Given the description of an element on the screen output the (x, y) to click on. 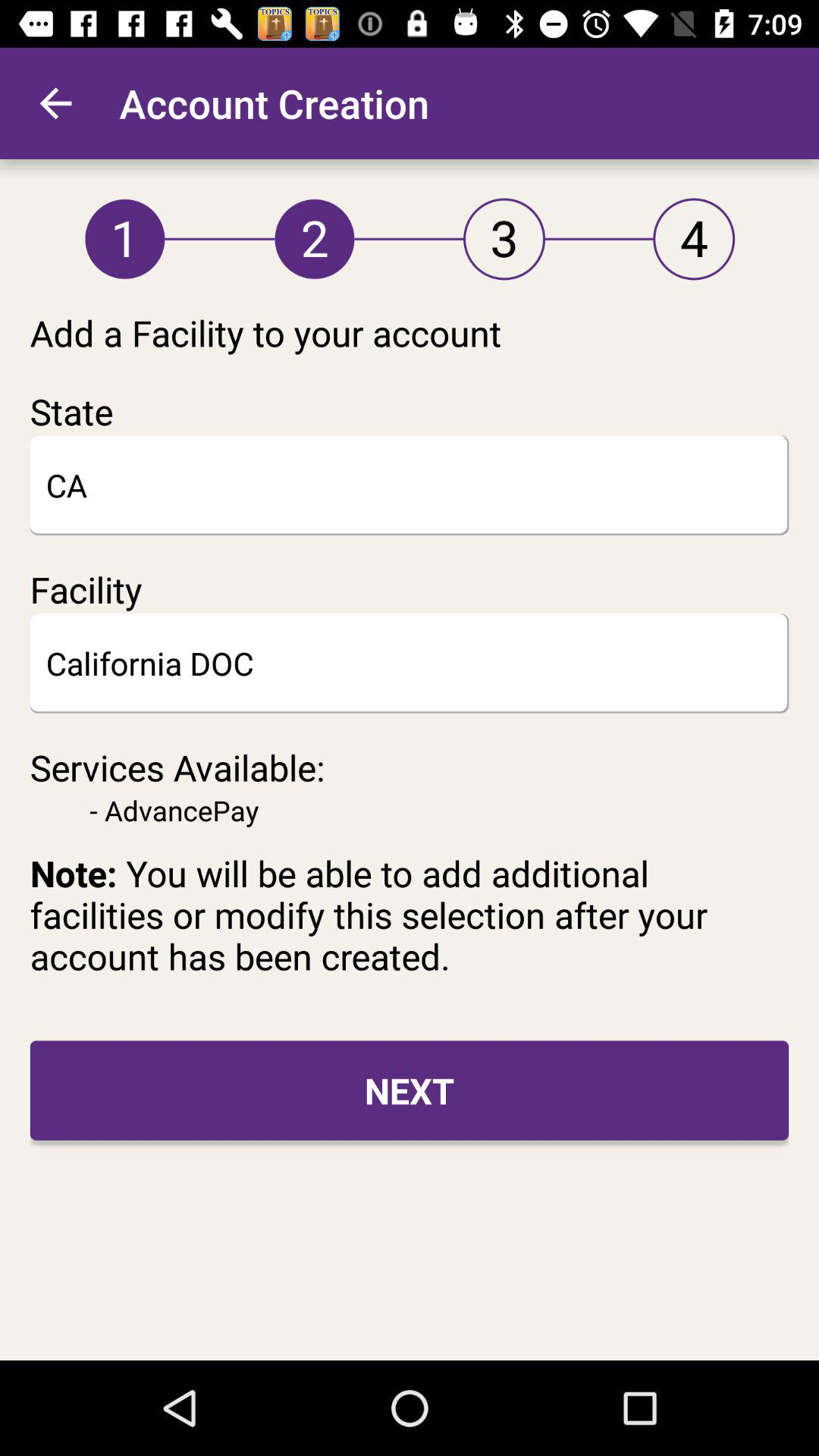
jump to next (409, 1090)
